Given the description of an element on the screen output the (x, y) to click on. 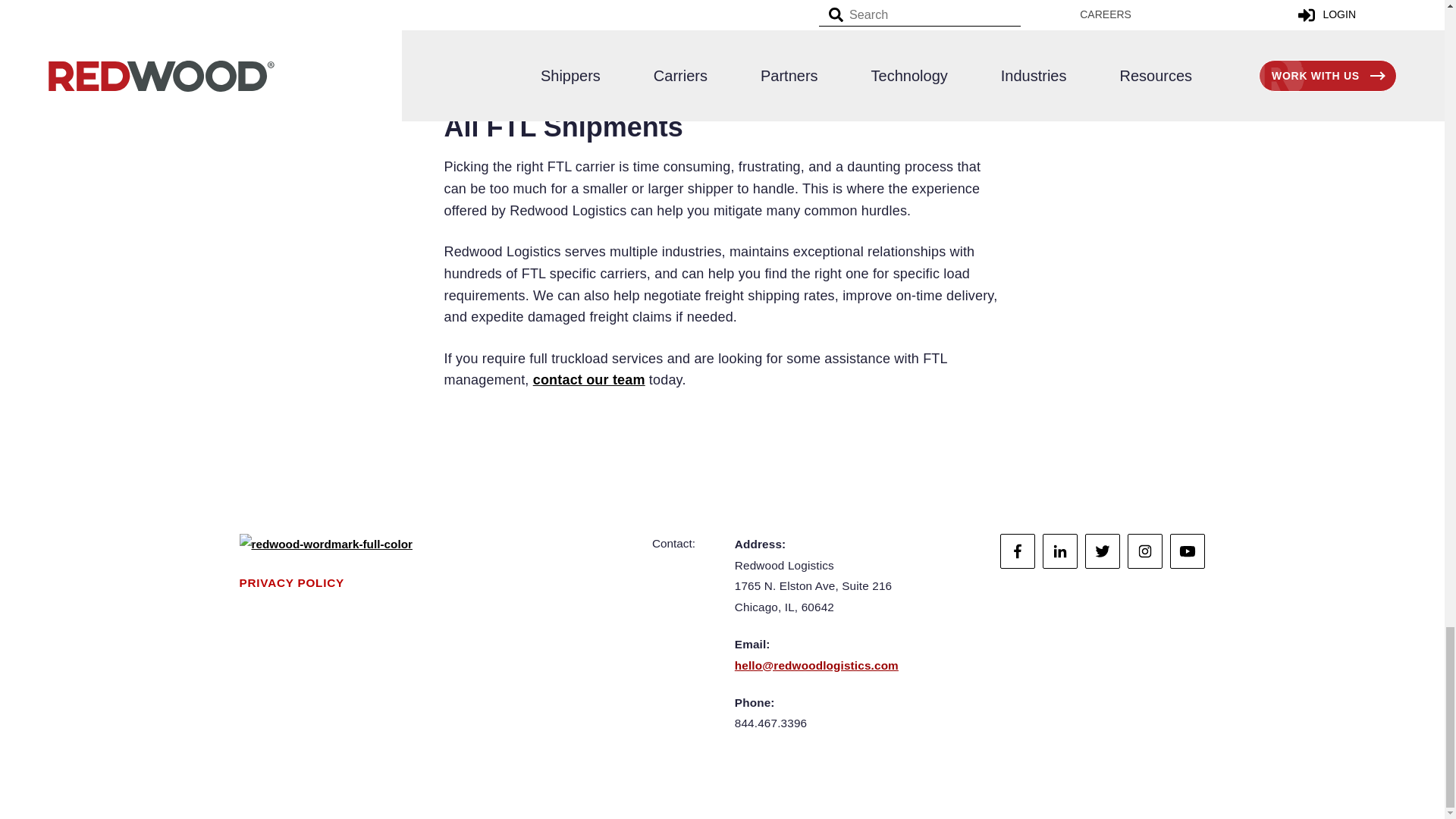
redwood-wordmark-full-color (326, 544)
Linkedin (1059, 550)
Twitter (1101, 550)
Instagram (1143, 550)
Facebook (1017, 550)
YouTube (1187, 550)
